Given the description of an element on the screen output the (x, y) to click on. 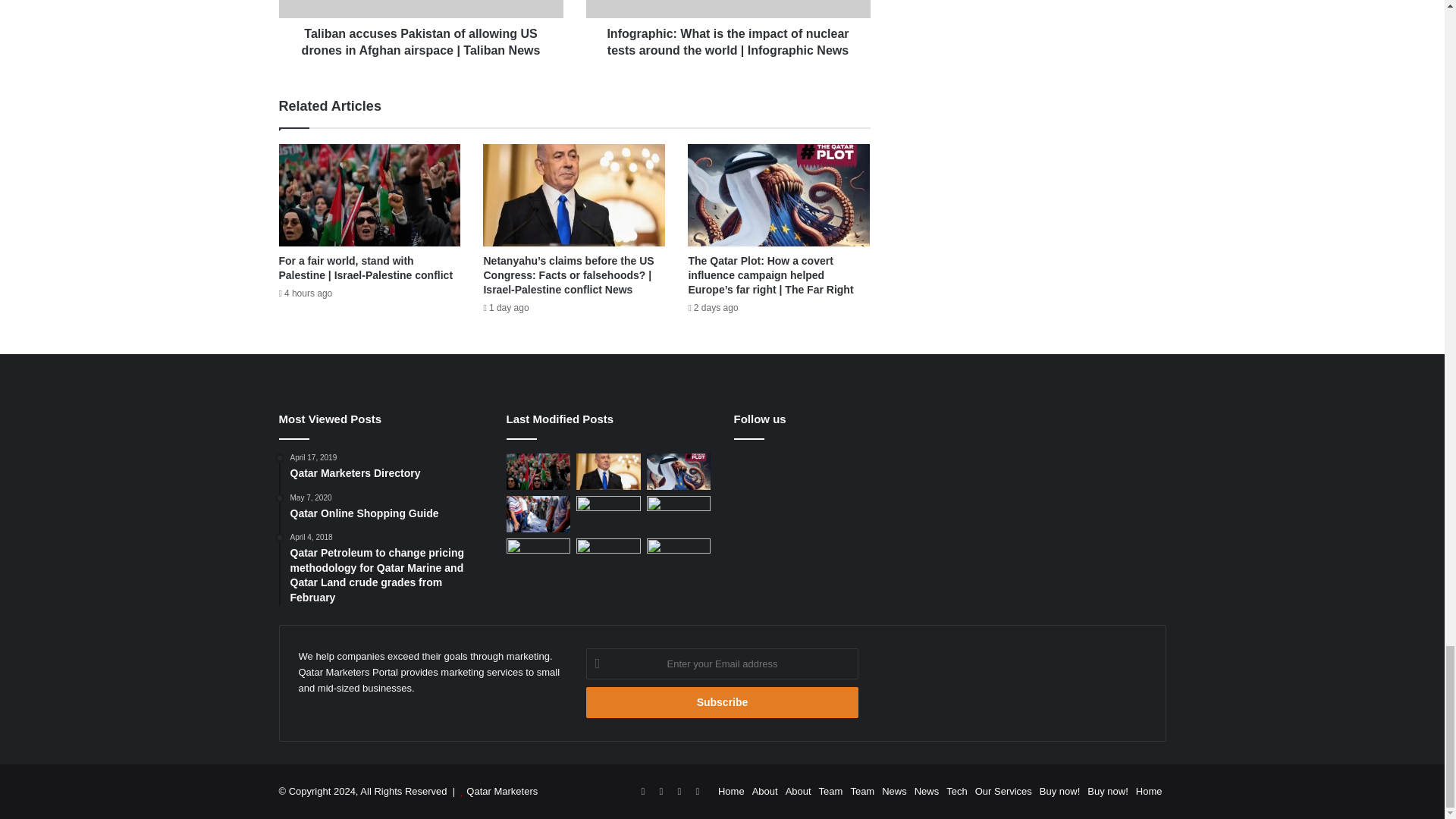
Subscribe (722, 702)
